Given the description of an element on the screen output the (x, y) to click on. 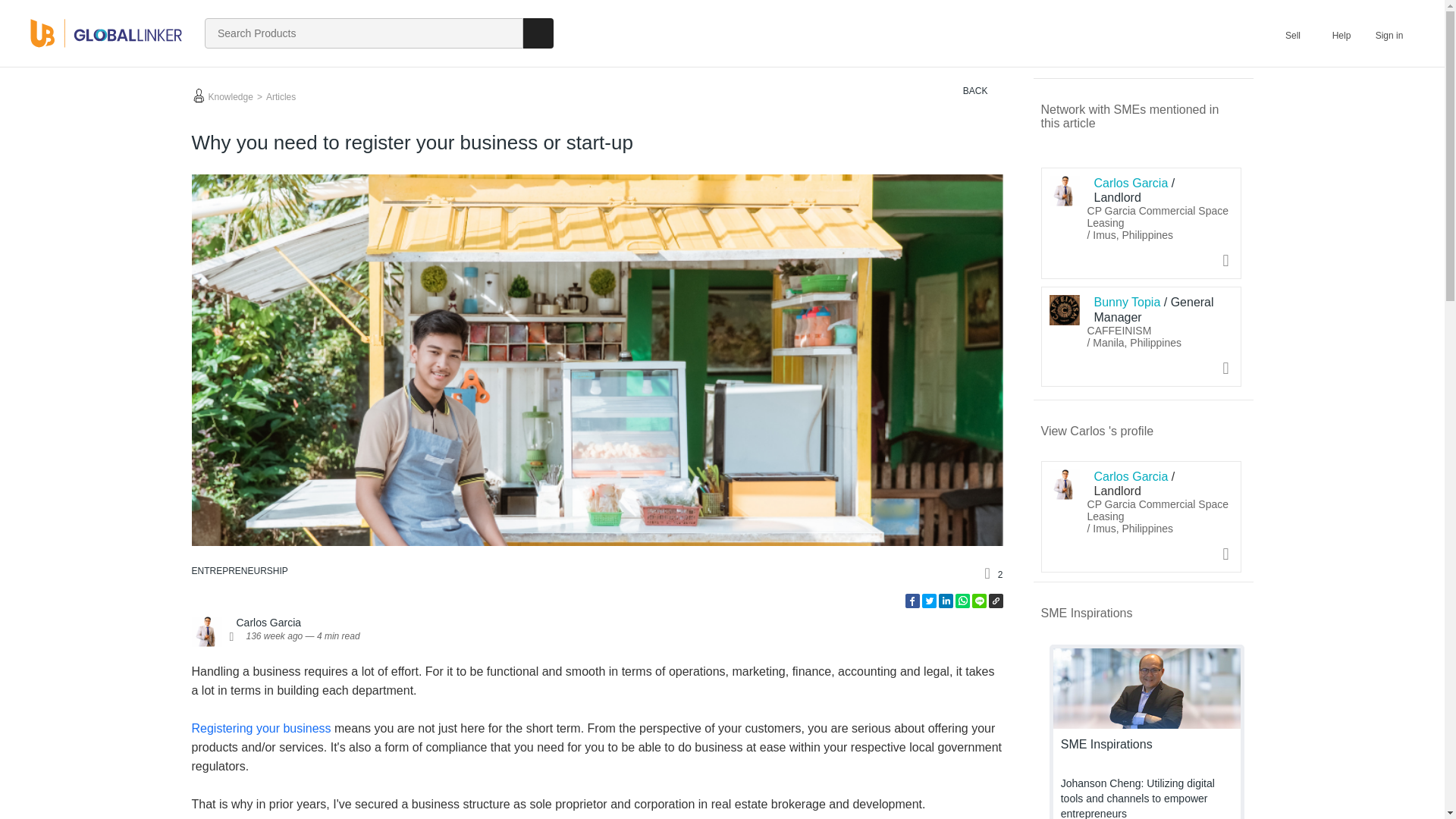
Knowledge (229, 95)
Articles (278, 95)
Bunny Topia (1064, 309)
Carlos Garcia (1064, 484)
Help (1341, 33)
ENTREPRENEURSHIP (238, 570)
Globallinker (106, 32)
Sell (1292, 33)
  BACK (972, 90)
Carlos Garcia (268, 622)
Registering your business (260, 727)
Carlos Garcia (205, 631)
Sign in (1389, 33)
Carlos Garcia (1064, 191)
